Given the description of an element on the screen output the (x, y) to click on. 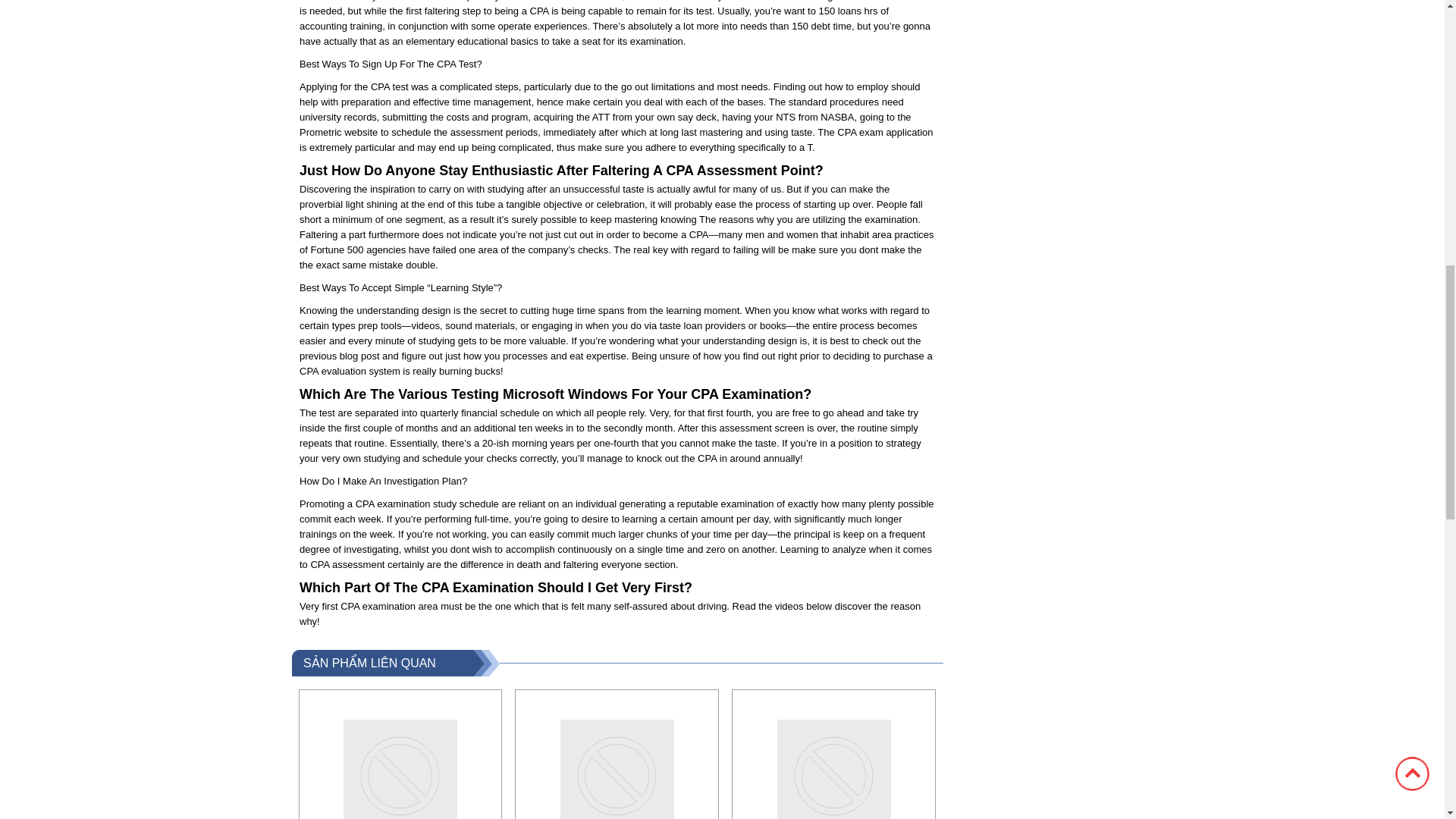
The Realities Of Marrying A Mail Buy Bride Moderate (617, 754)
Snail mail Order Brides Russian, European Ladies (400, 754)
-mail Order Brides From Korea, South (834, 754)
